Given the description of an element on the screen output the (x, y) to click on. 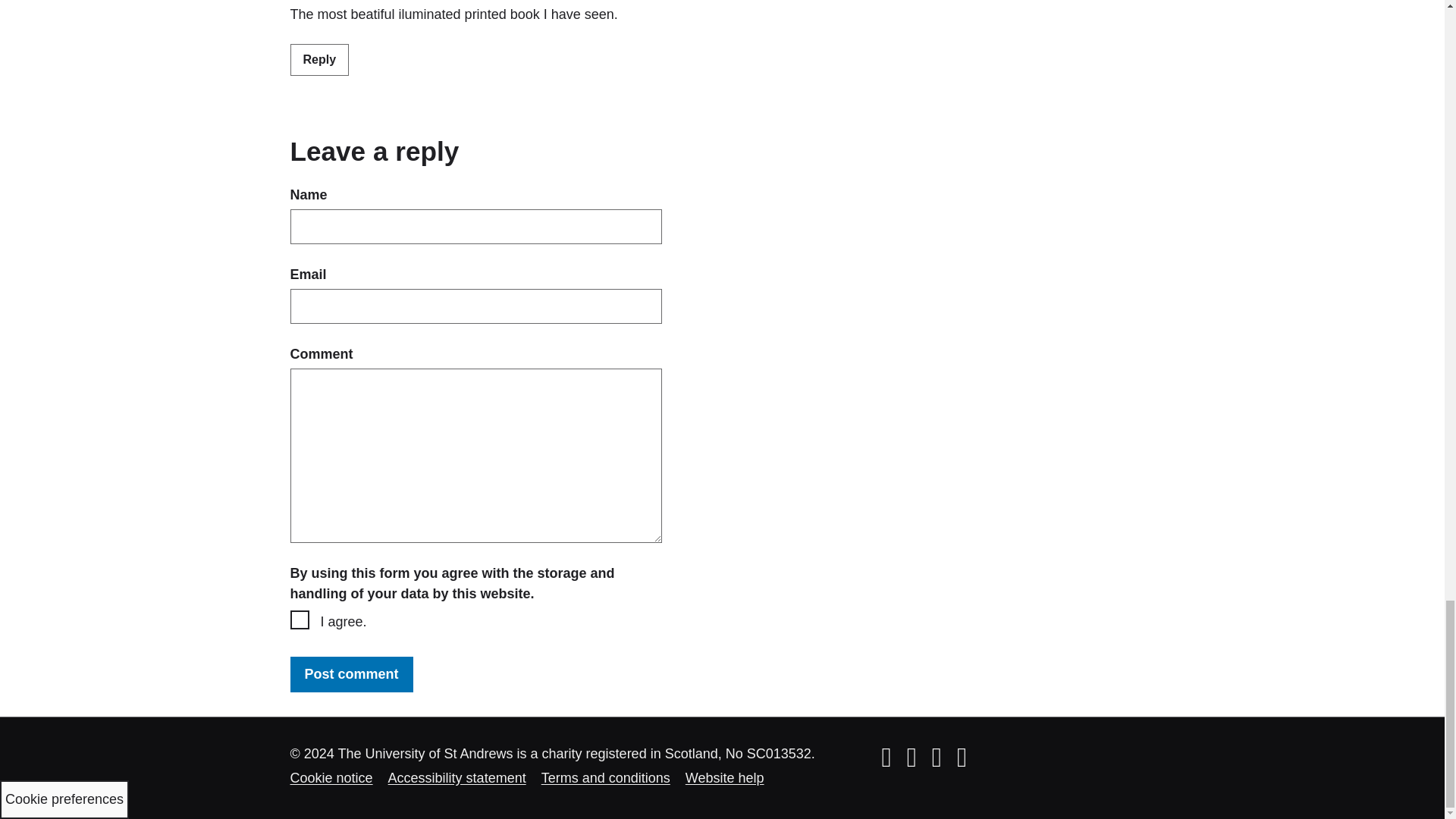
Post comment (350, 674)
Accessibility statement (456, 777)
Terms and conditions (605, 777)
Reply (319, 60)
Cookie notice (330, 777)
Website help (724, 777)
